Given the description of an element on the screen output the (x, y) to click on. 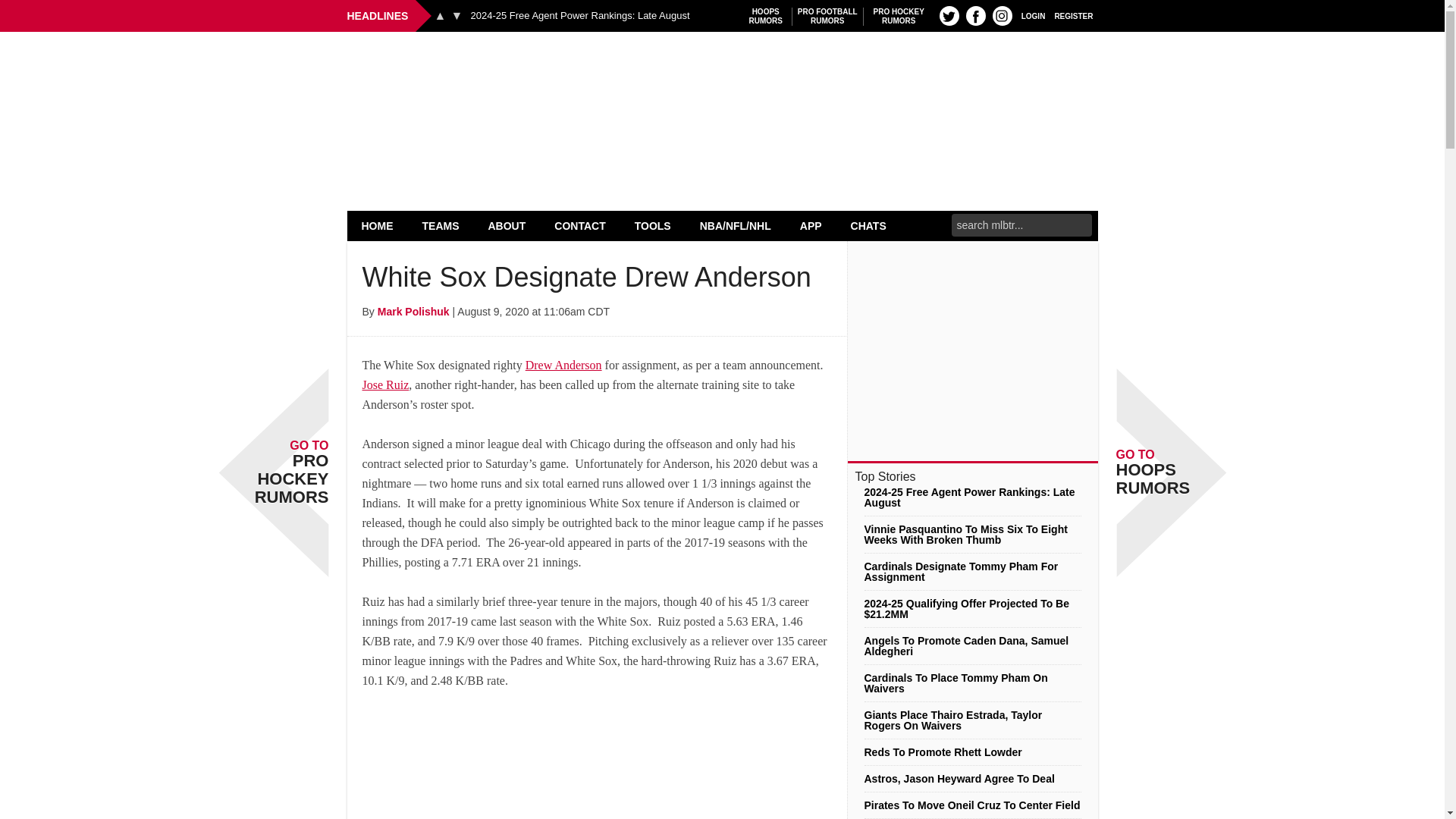
REGISTER (1073, 15)
2024-25 Free Agent Power Rankings: Late August (579, 15)
FB profile (975, 15)
Previous (439, 15)
MLB Trade Rumors (722, 69)
Next (456, 15)
Instagram profile (1001, 15)
LOGIN (1032, 15)
